Given the description of an element on the screen output the (x, y) to click on. 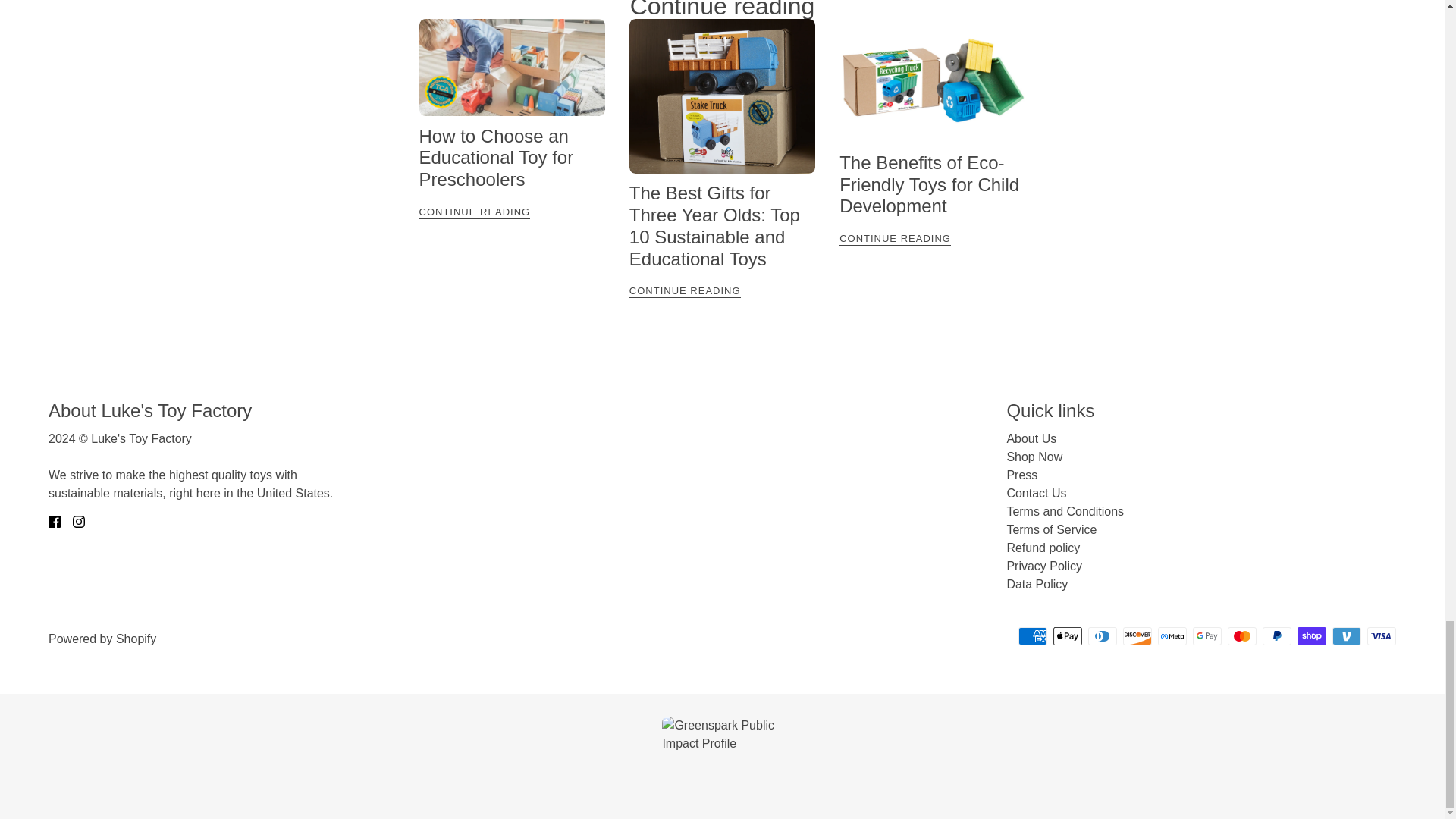
About Us (1031, 438)
Terms and Conditions (1065, 511)
CONTINUE READING (932, 238)
CONTINUE READING (721, 290)
Terms of Service (1051, 529)
How to Choose an Educational Toy for Preschoolers (496, 158)
Press (1021, 474)
Data Policy (1036, 584)
The Benefits of Eco-Friendly Toys for Child Development (929, 184)
Shop Now (1034, 456)
Contact Us (1035, 492)
CONTINUE READING (511, 211)
Privacy Policy (1043, 565)
Refund policy (1043, 547)
